Given the description of an element on the screen output the (x, y) to click on. 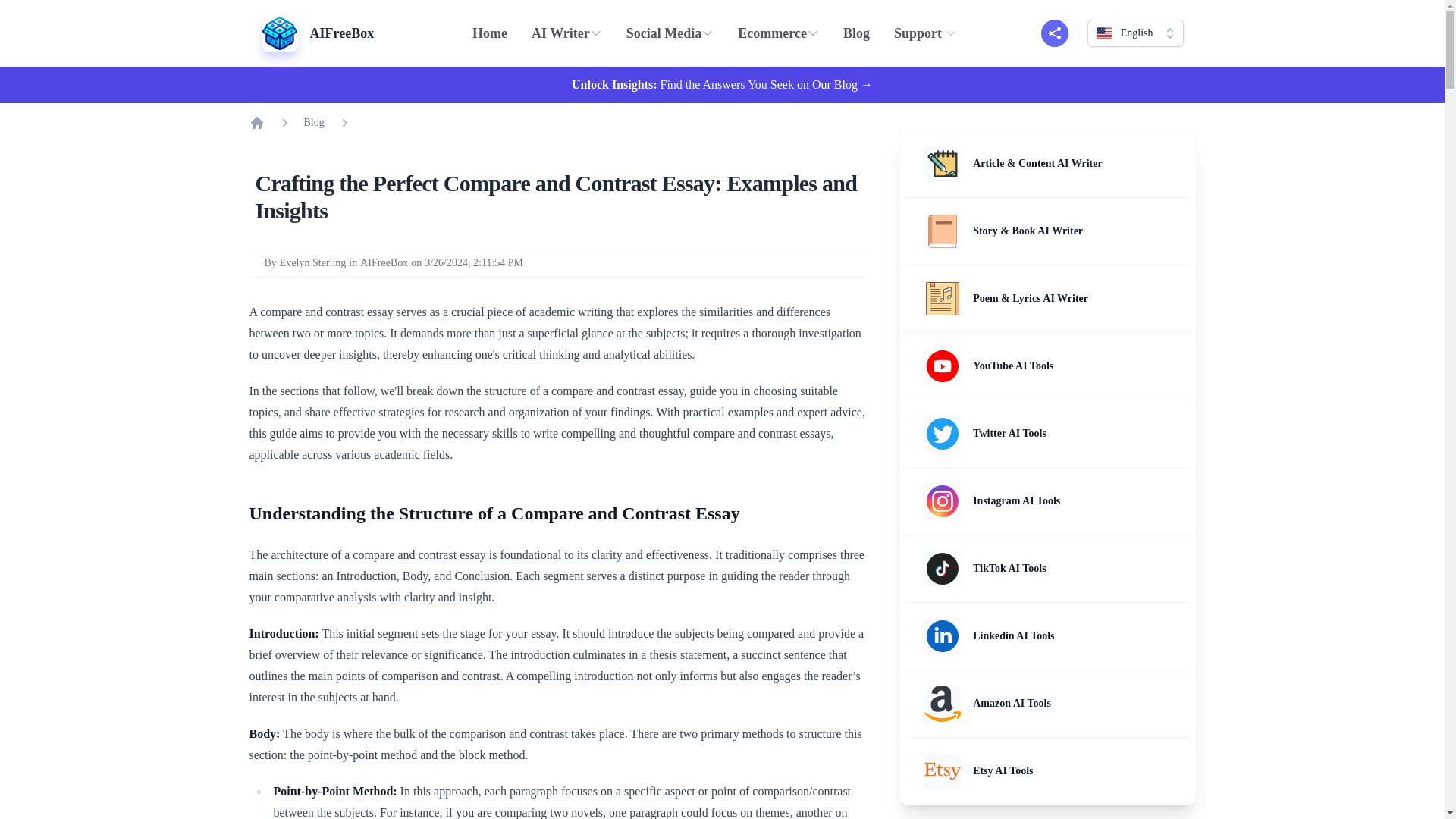
AI Writer (566, 33)
Blog (312, 122)
Instagram AI Tools (991, 501)
Home (489, 33)
TikTok AI Tools (985, 568)
Social Media (670, 33)
Blog (856, 33)
Amazon AI Tools (987, 703)
Share (1054, 32)
English (1135, 32)
